Given the description of an element on the screen output the (x, y) to click on. 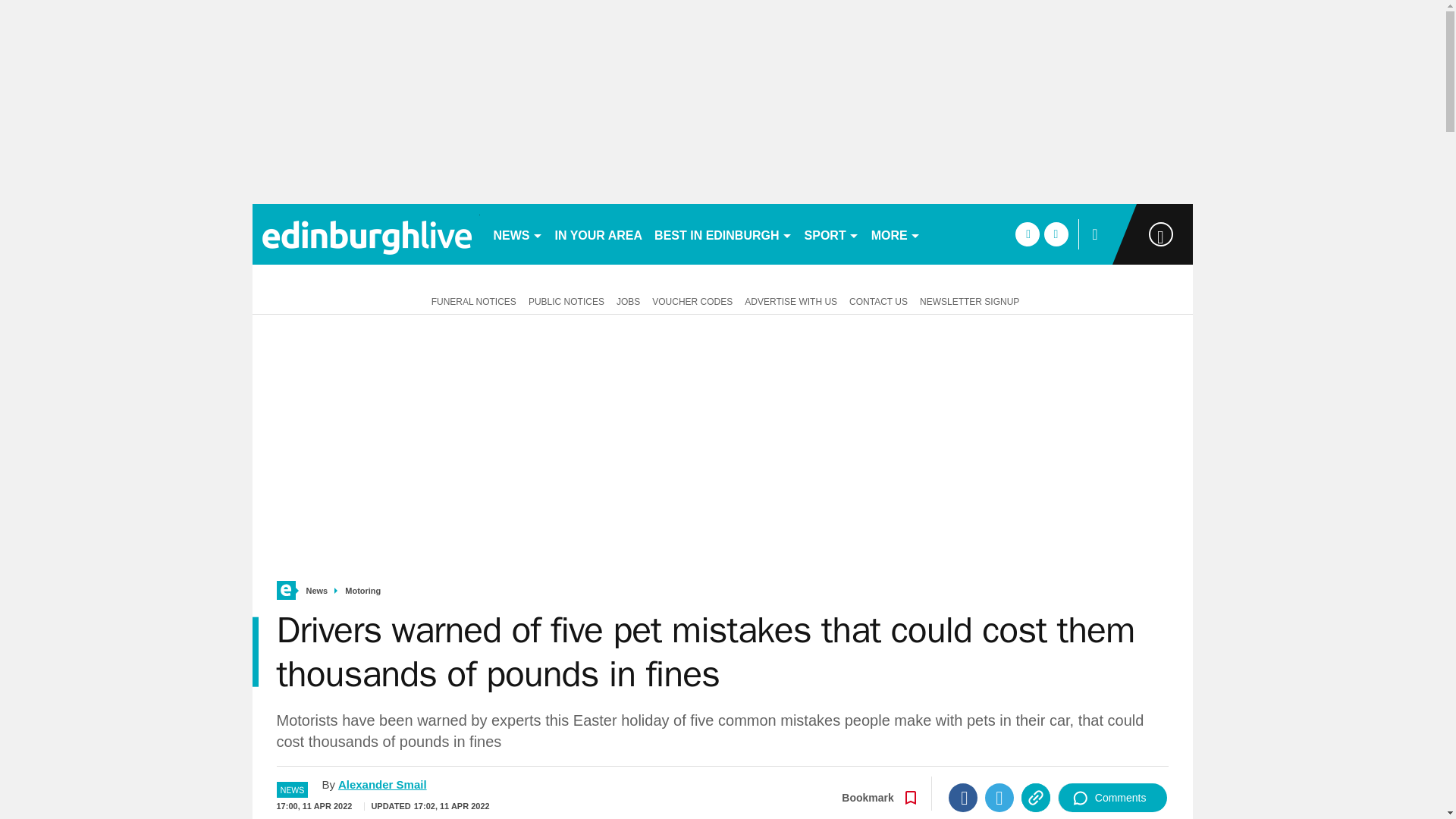
edinburghlive (365, 233)
NEWS (517, 233)
MORE (895, 233)
Facebook (962, 797)
IN YOUR AREA (598, 233)
facebook (1026, 233)
Comments (1112, 797)
BEST IN EDINBURGH (722, 233)
Twitter (999, 797)
SPORT (830, 233)
twitter (1055, 233)
